Given the description of an element on the screen output the (x, y) to click on. 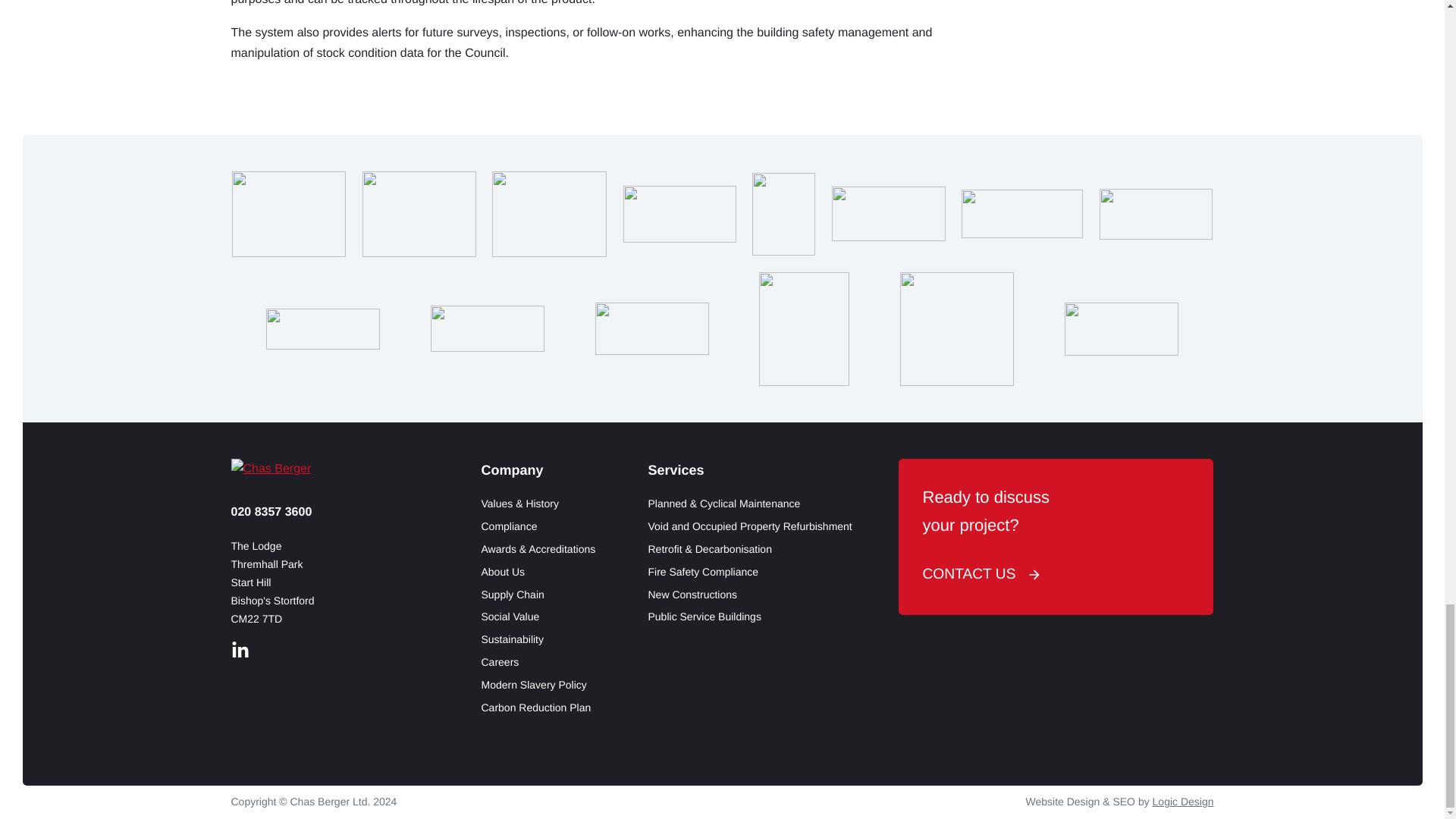
Carbon Reduction Plan (537, 707)
Linkedin (239, 649)
Social Value (537, 617)
Compliance (537, 526)
Modern Slavery Policy (537, 685)
Careers (537, 662)
Void and Occupied Property Refurbishment (749, 526)
Sustainability (537, 639)
About Us (537, 572)
Supply Chain (537, 594)
020 8357 3600 (270, 512)
